Given the description of an element on the screen output the (x, y) to click on. 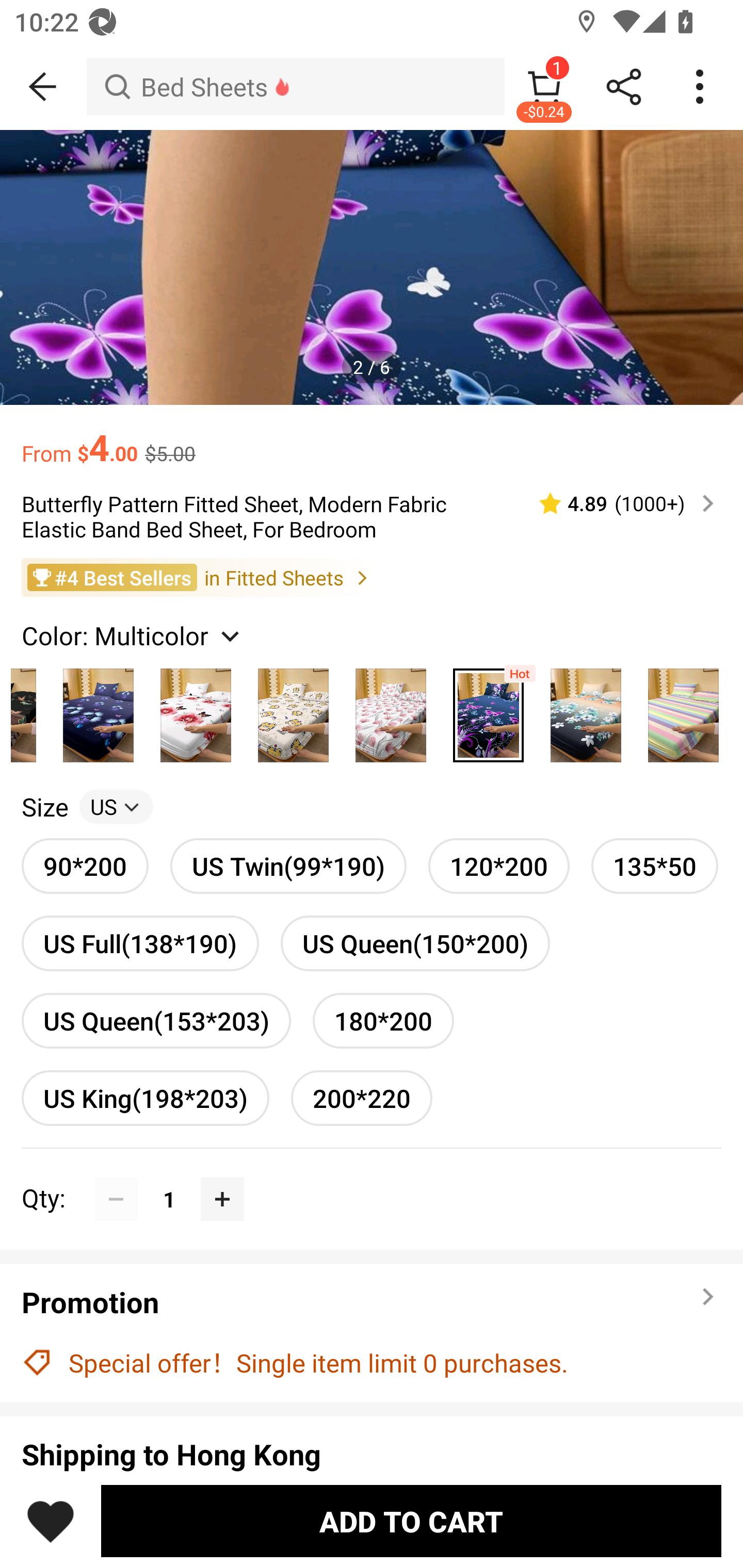
BACK (43, 86)
1 -$0.24 (543, 87)
Bed Sheets (295, 87)
PHOTOS (371, 267)
2 / 6 (371, 366)
From  $4.00 $5.00 (371, 437)
4.89 (1000‎+) (617, 503)
#4 Best Sellers in Fitted Sheets (371, 577)
Color: Multicolor (132, 634)
Multicolor (98, 710)
Multicolor (195, 710)
Multicolor (292, 710)
Multicolor (390, 710)
Multicolor (488, 710)
Multicolor (585, 710)
Multicolor (682, 710)
Size (44, 806)
US (116, 806)
90*200 90*200unselected option (84, 865)
US Twin(99*190) US Twin(99*190)unselected option (288, 865)
120*200 120*200unselected option (498, 865)
135*50 135*50unselected option (654, 865)
US Full(138*190) US Full(138*190)unselected option (140, 942)
180*200 180*200unselected option (382, 1020)
US King(198*203) US King(198*203)unselected option (144, 1097)
200*220 200*220unselected option (361, 1097)
Qty: 1 (371, 1177)
Shipping to Hong Kong (371, 1453)
ADD TO CART (411, 1520)
Saved (50, 1520)
